Given the description of an element on the screen output the (x, y) to click on. 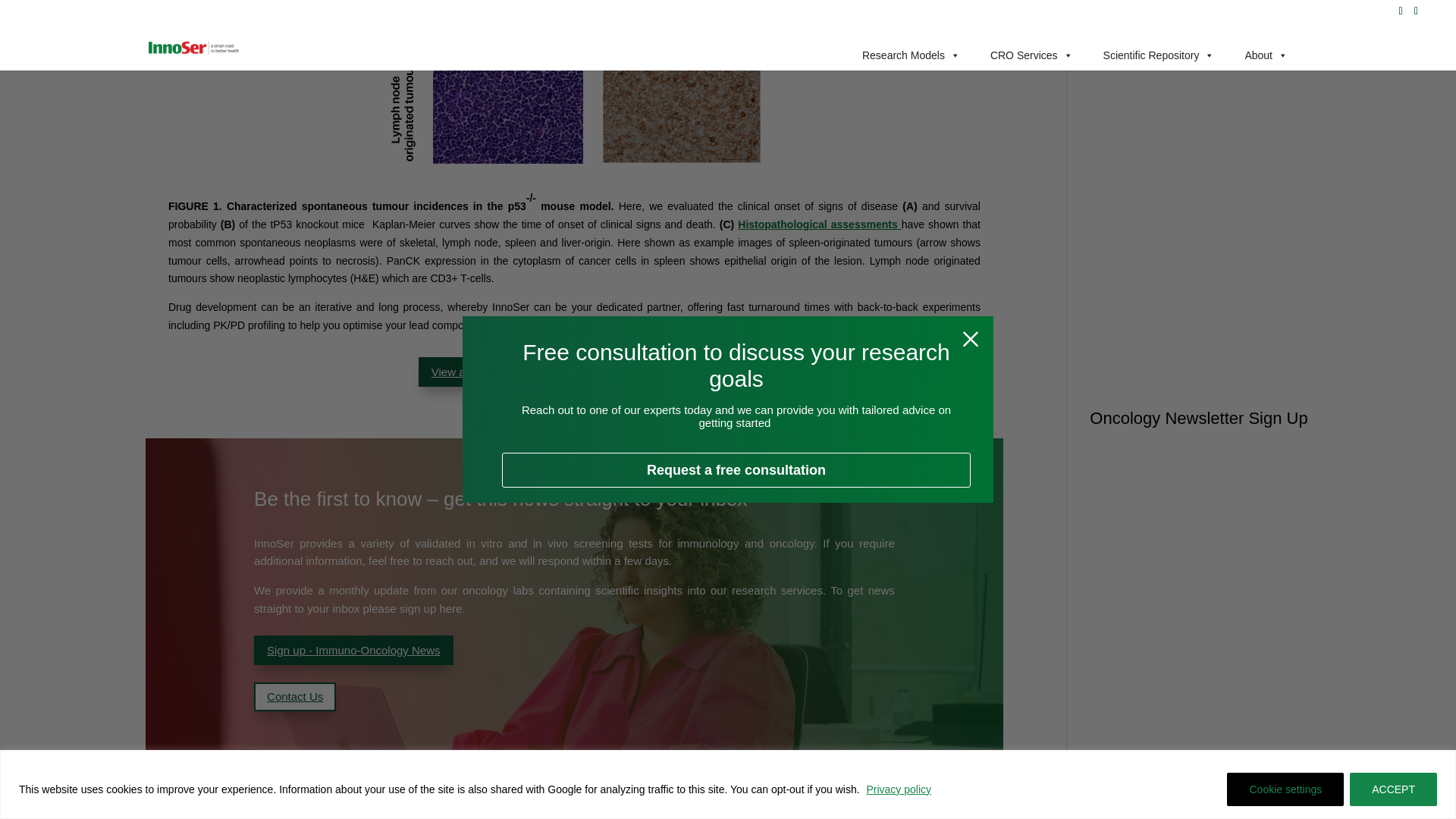
p53 model characterisation (574, 81)
